Given the description of an element on the screen output the (x, y) to click on. 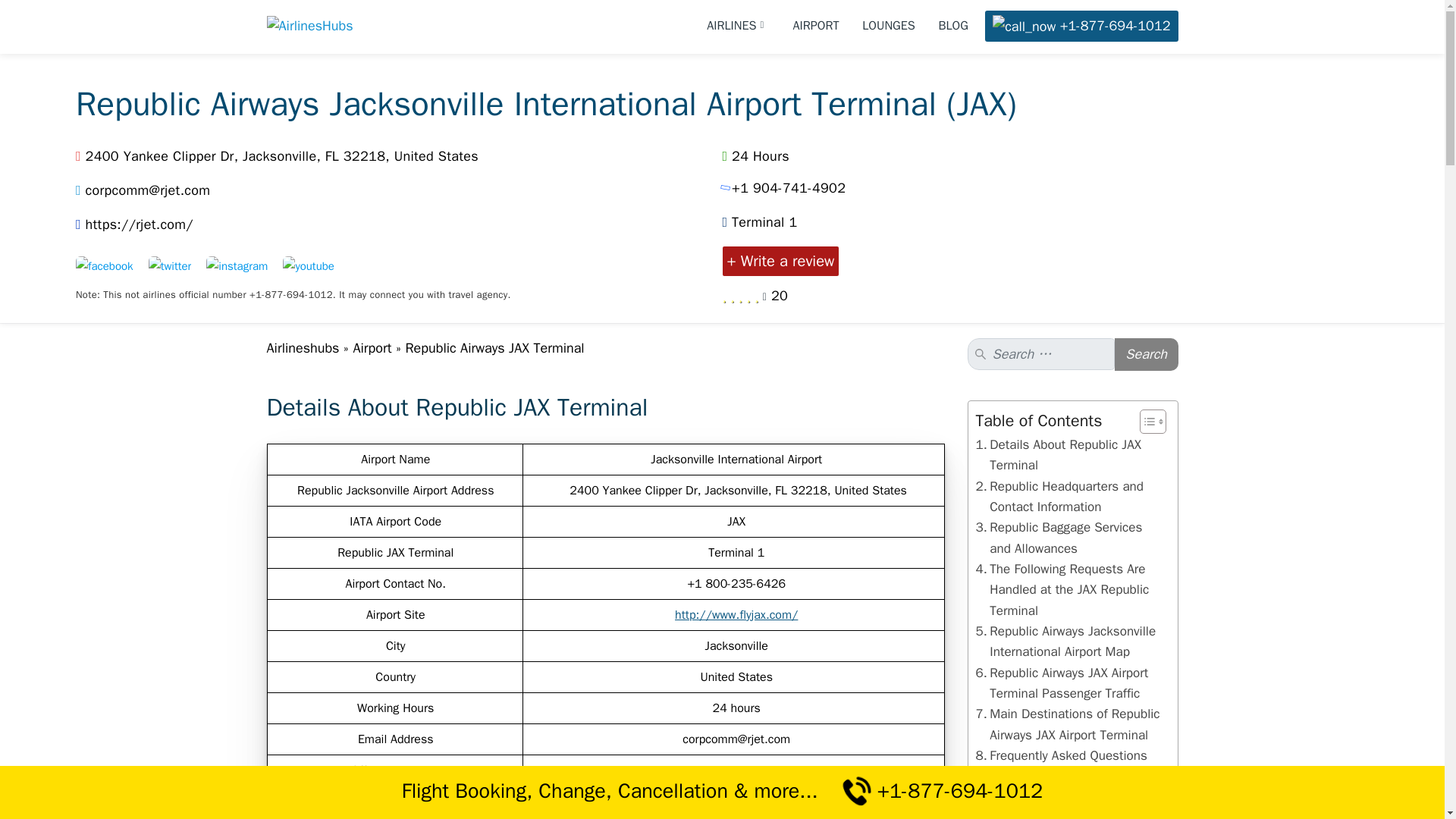
Search (1146, 354)
Search (1146, 354)
AIRPORT (816, 25)
AIRLINES (738, 25)
